Given the description of an element on the screen output the (x, y) to click on. 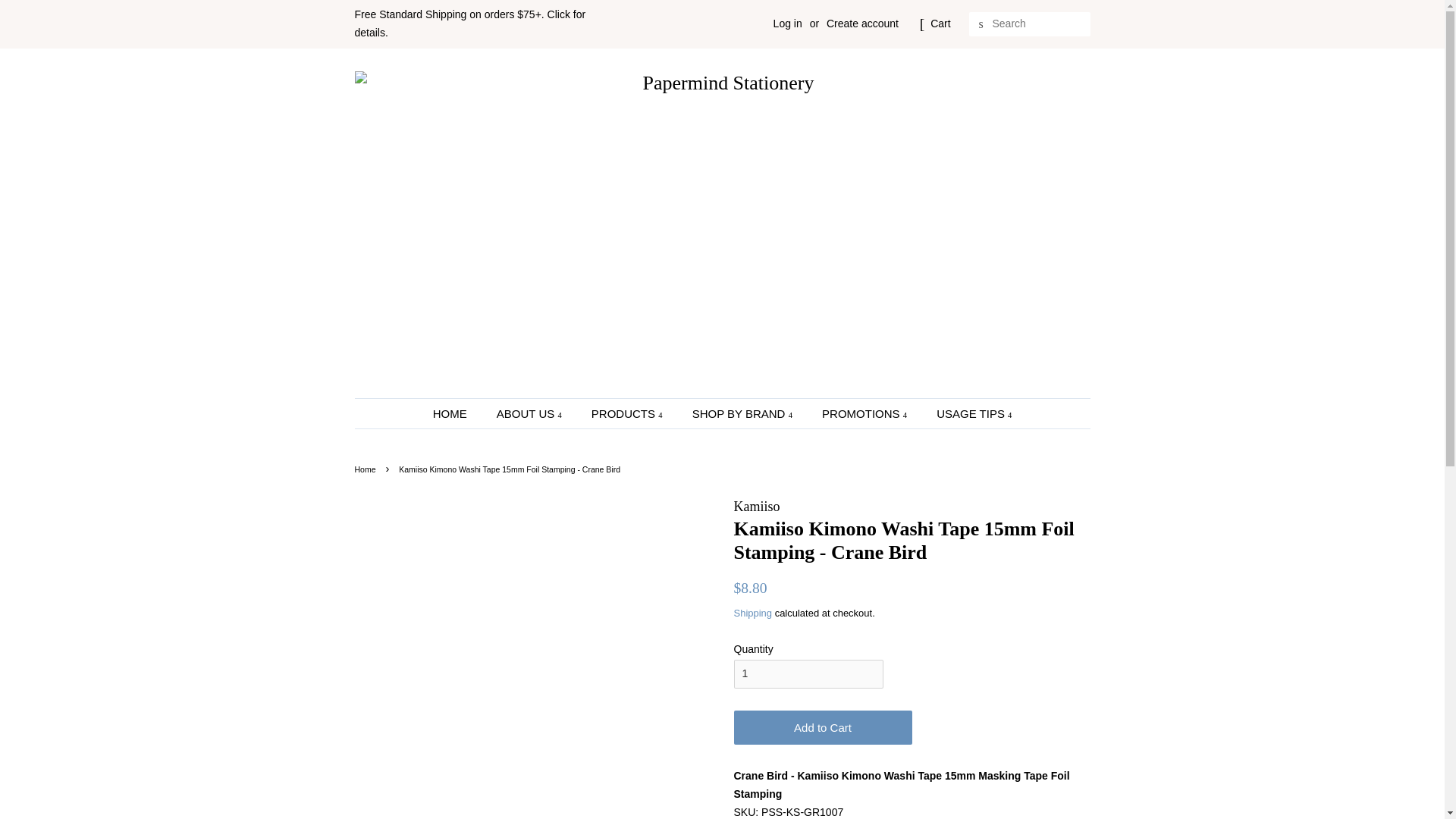
Search (980, 24)
Back to the frontpage (367, 469)
1 (808, 674)
Create account (862, 23)
Cart (940, 24)
Log in (787, 23)
